Given the description of an element on the screen output the (x, y) to click on. 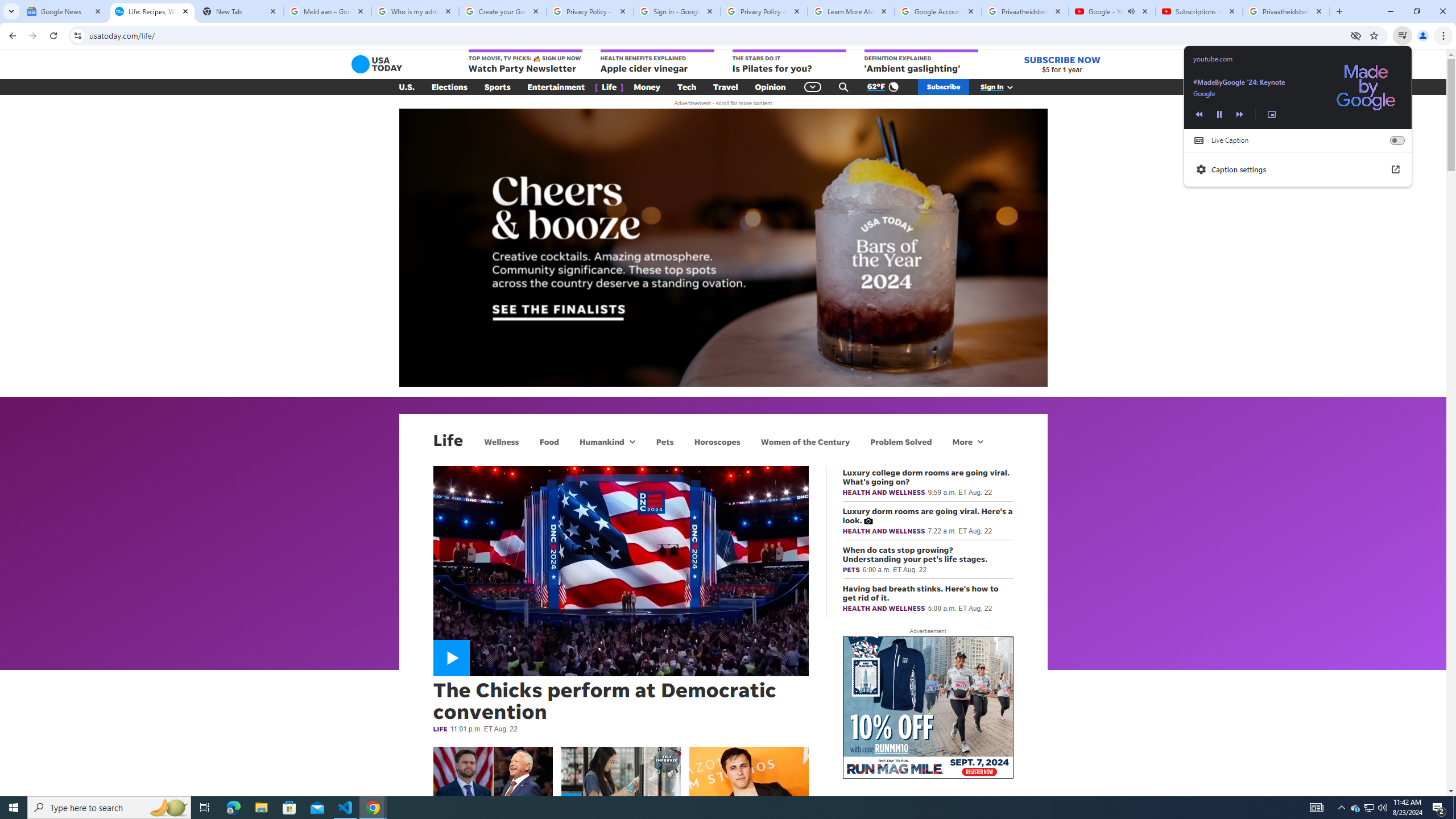
SUBSCRIBE NOW $5 for 1 year (1062, 64)
Back to tab (1297, 87)
Minimize (1390, 11)
Search tabs (10, 11)
Google News (64, 11)
[ Life ] (609, 87)
Horoscopes (717, 441)
AutomationID: aw0 (928, 708)
More Humankind navigation (631, 441)
